Given the description of an element on the screen output the (x, y) to click on. 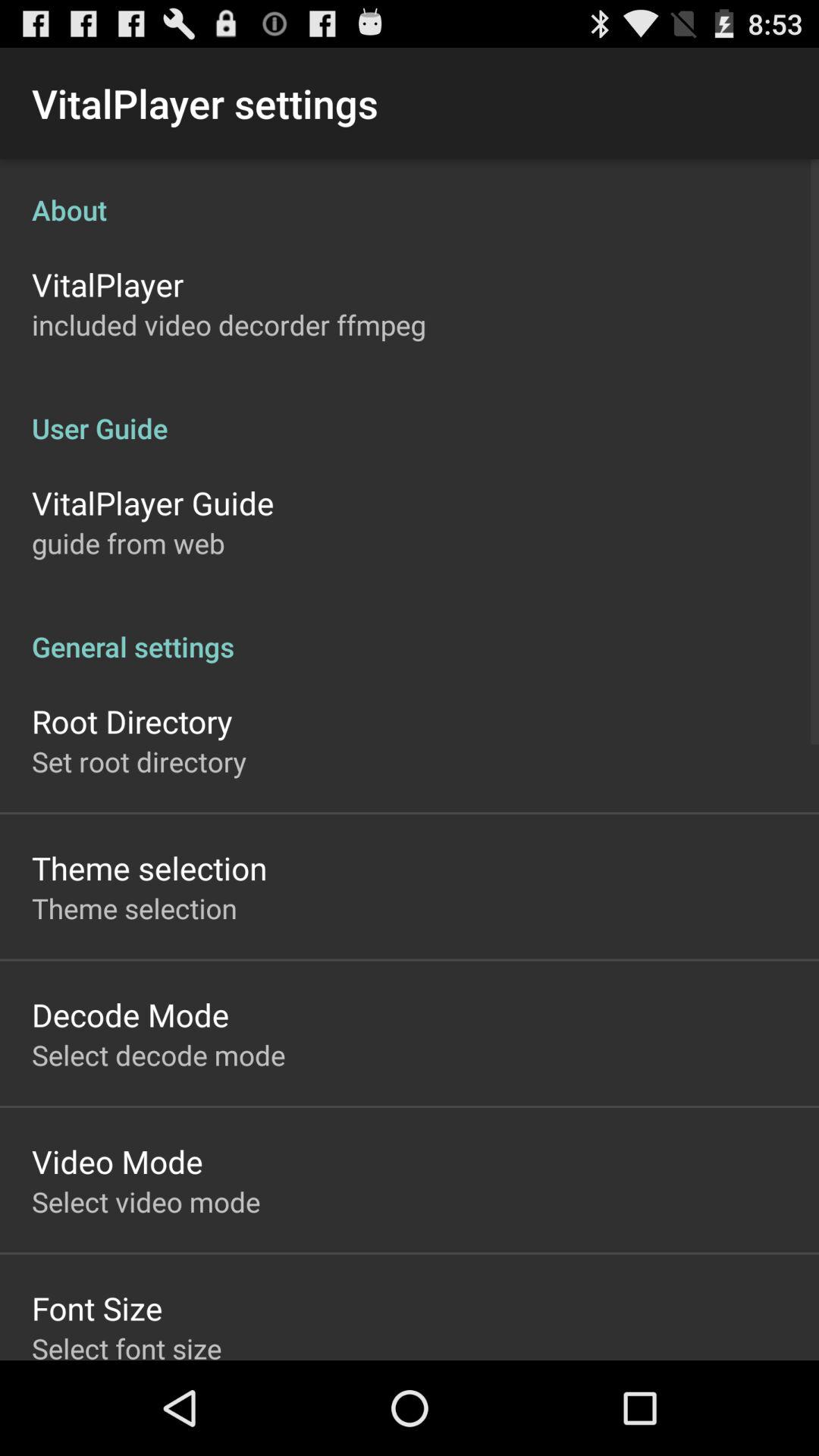
choose vitalplayer guide (152, 502)
